Given the description of an element on the screen output the (x, y) to click on. 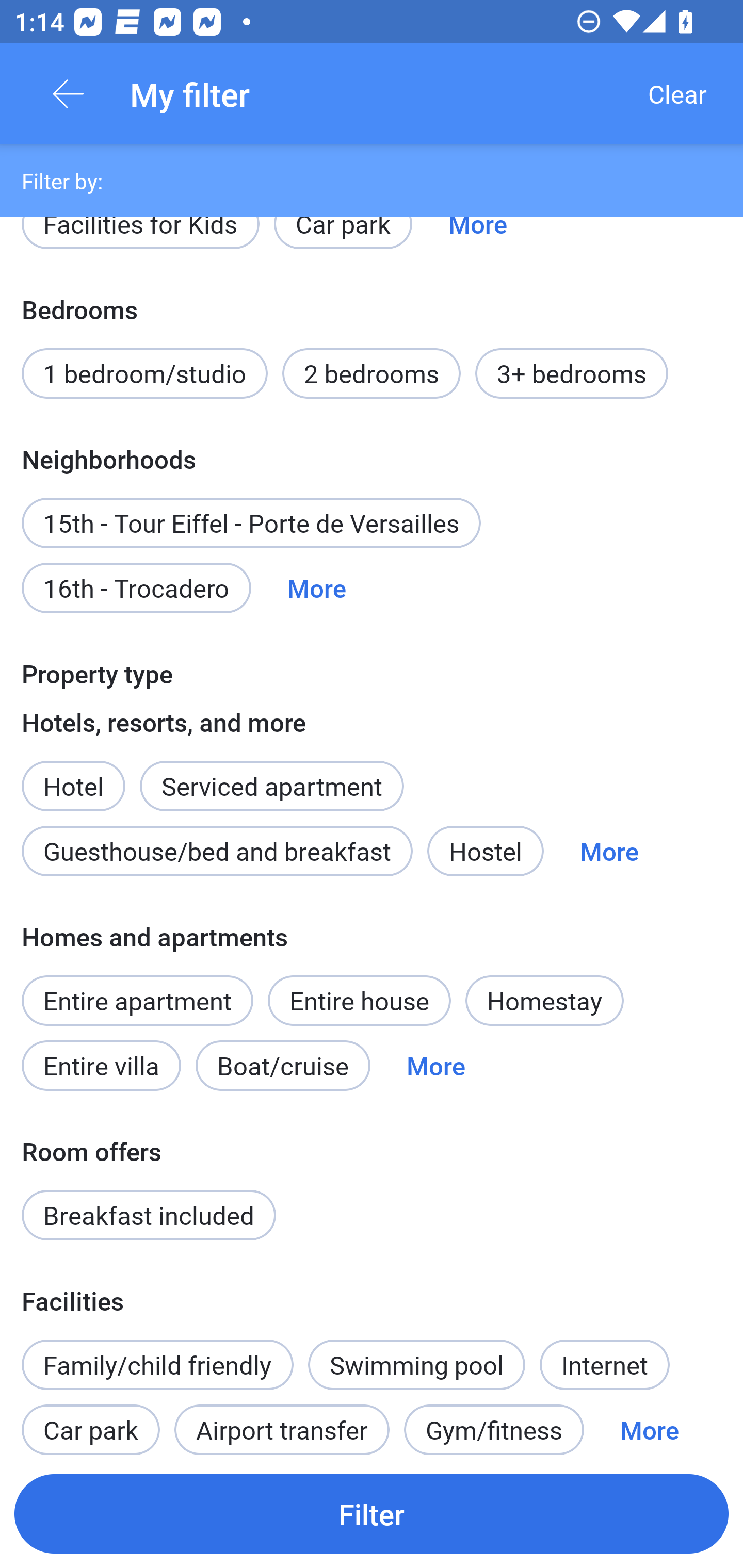
Clear (676, 93)
Facilities for Kids (140, 241)
Car park (343, 241)
More (477, 241)
1 bedroom/studio (144, 373)
2 bedrooms (371, 373)
3+ bedrooms (571, 373)
15th - Tour Eiffel - Porte de Versailles (250, 522)
16th - Trocadero (136, 587)
More (316, 587)
Hotel (73, 775)
Serviced apartment (271, 775)
Guesthouse/bed and breakfast (217, 850)
Hostel (485, 850)
More (608, 850)
Entire apartment (137, 1001)
Entire house (359, 1001)
Homestay (544, 1001)
Entire villa (101, 1065)
Boat/cruise (282, 1065)
More (435, 1065)
Breakfast included (148, 1215)
Family/child friendly (157, 1364)
Swimming pool (416, 1364)
Internet (604, 1364)
Car park (90, 1422)
Airport transfer (281, 1422)
Gym/fitness (493, 1422)
More (649, 1422)
Filter (371, 1513)
